Given the description of an element on the screen output the (x, y) to click on. 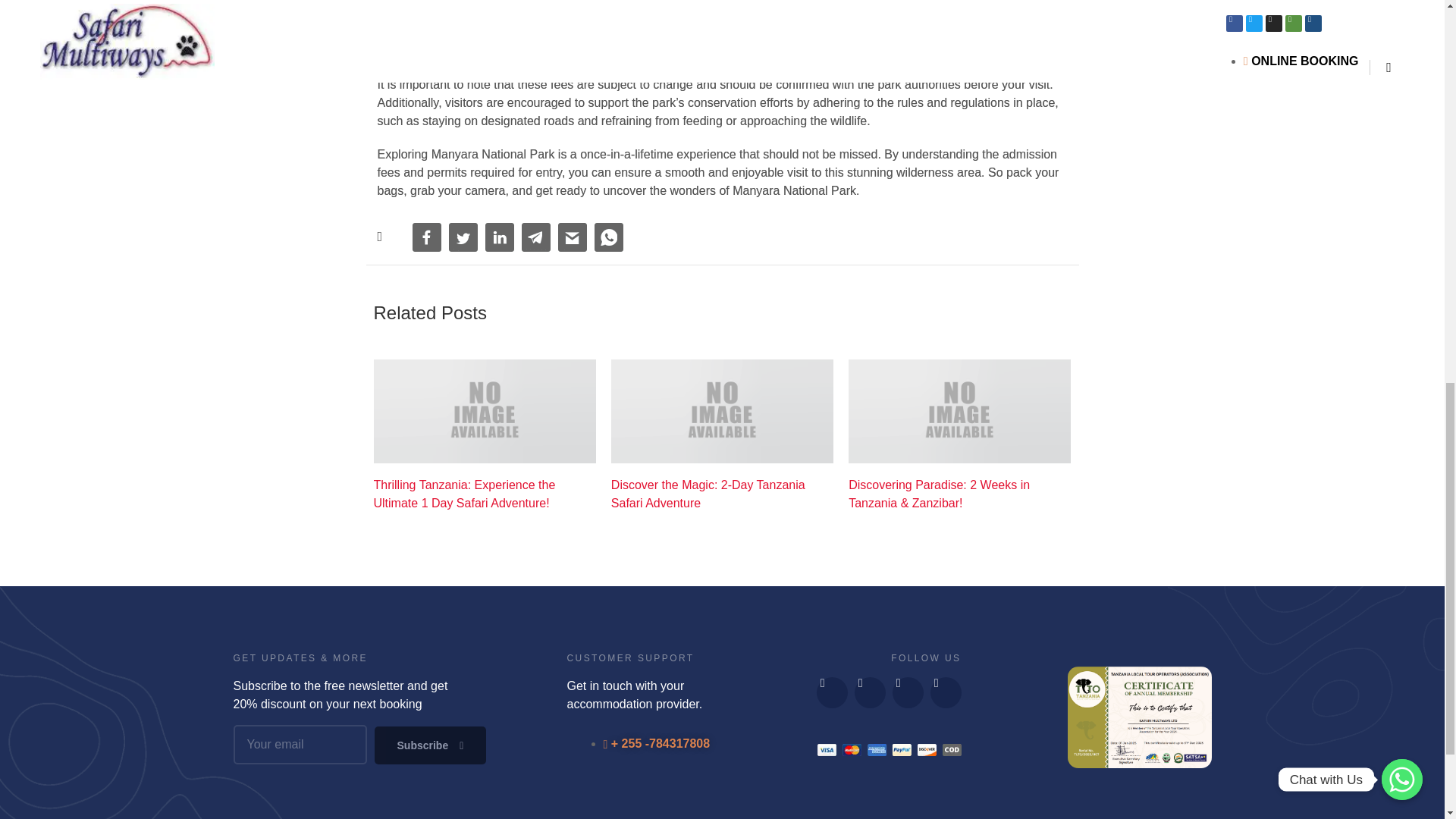
Discover the Magic: 2-Day Tanzania Safari Adventure (721, 493)
Subscribe (430, 745)
